Given the description of an element on the screen output the (x, y) to click on. 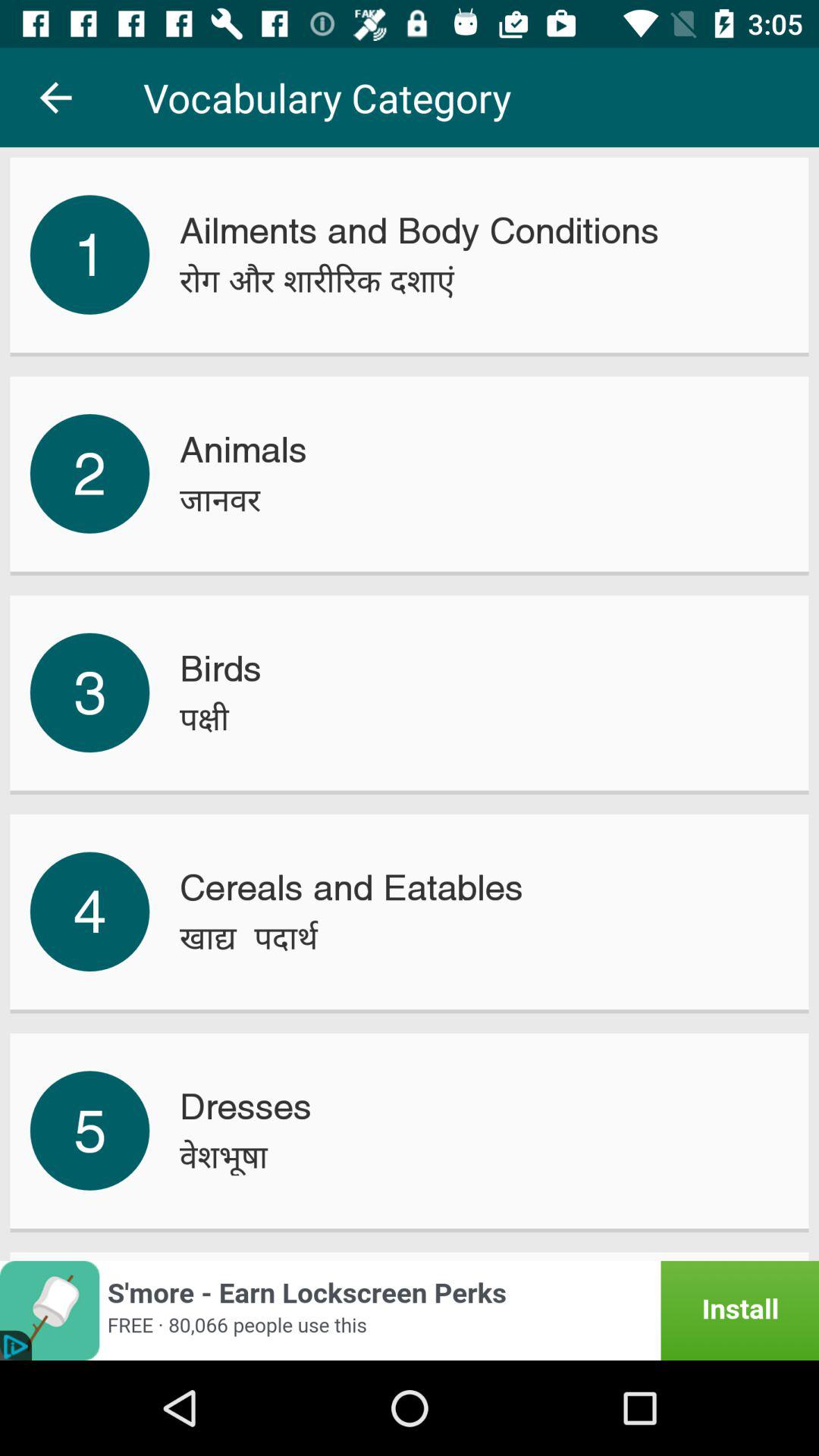
click the icon below vocabulary category icon (419, 230)
